Given the description of an element on the screen output the (x, y) to click on. 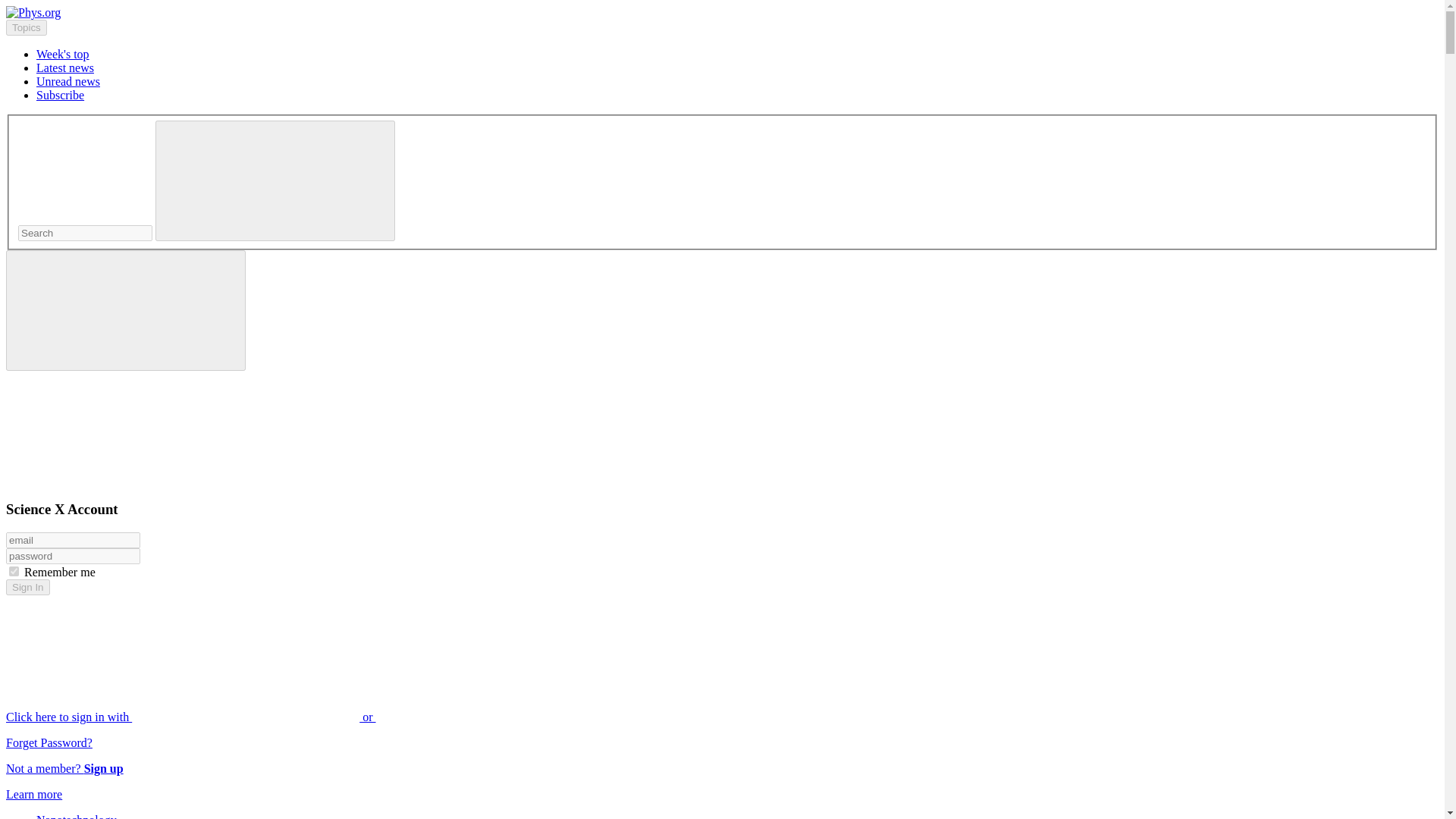
Topics (25, 27)
on (13, 571)
Sign In (27, 587)
Forget Password? (49, 742)
Subscribe (60, 94)
Nanotechnology (76, 816)
Click here to sign in with or (304, 716)
Latest news (65, 67)
Learn more (33, 793)
Week's top (62, 53)
